Given the description of an element on the screen output the (x, y) to click on. 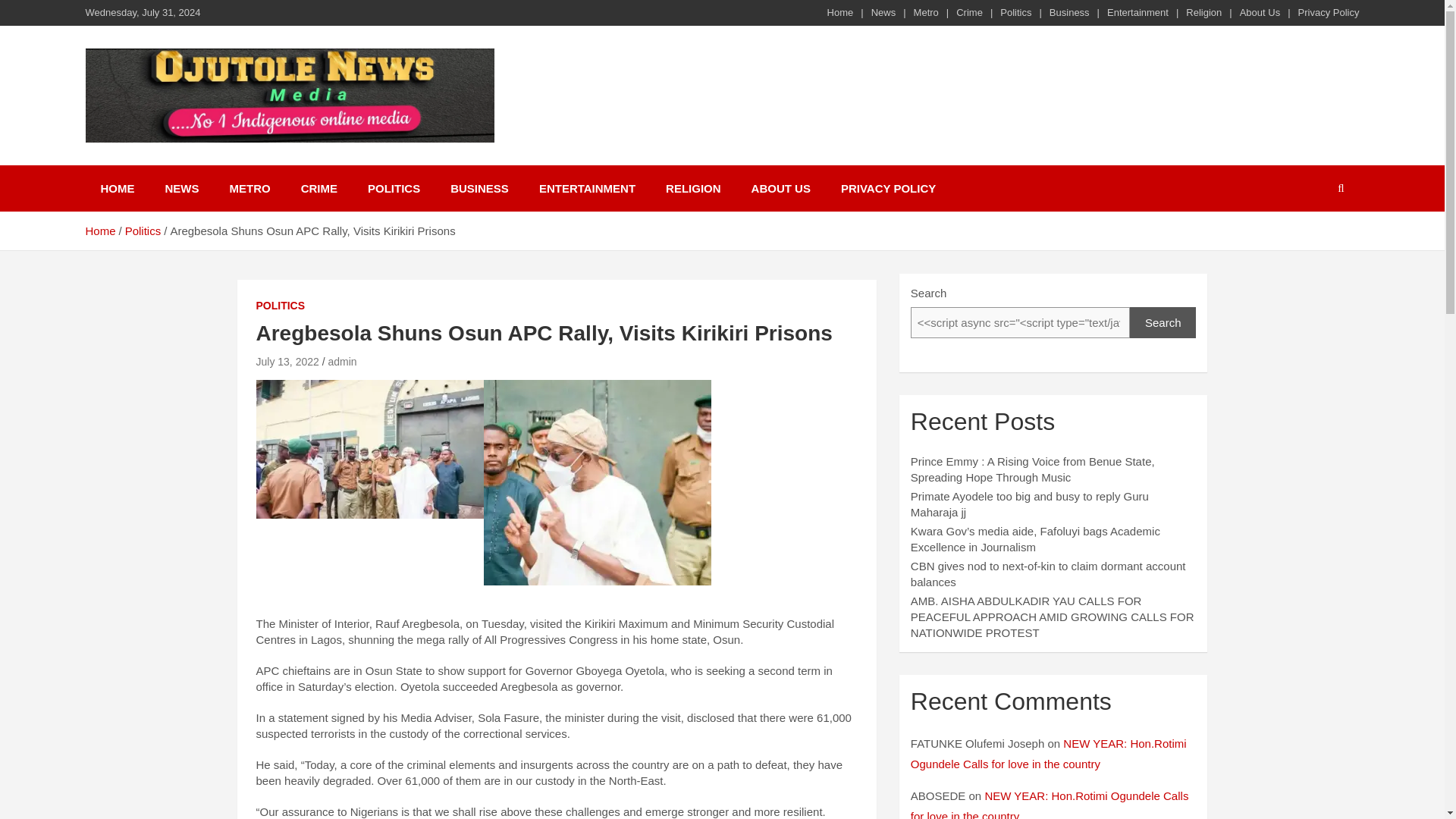
CRIME (318, 188)
Crime (969, 12)
Politics (143, 230)
Business (1069, 12)
Home (840, 12)
Politics (1015, 12)
BUSINESS (479, 188)
Entertainment (1137, 12)
Home (99, 230)
admin (341, 361)
POLITICS (393, 188)
Religion (1203, 12)
NEWS (181, 188)
METRO (249, 188)
ENTERTAINMENT (587, 188)
